Given the description of an element on the screen output the (x, y) to click on. 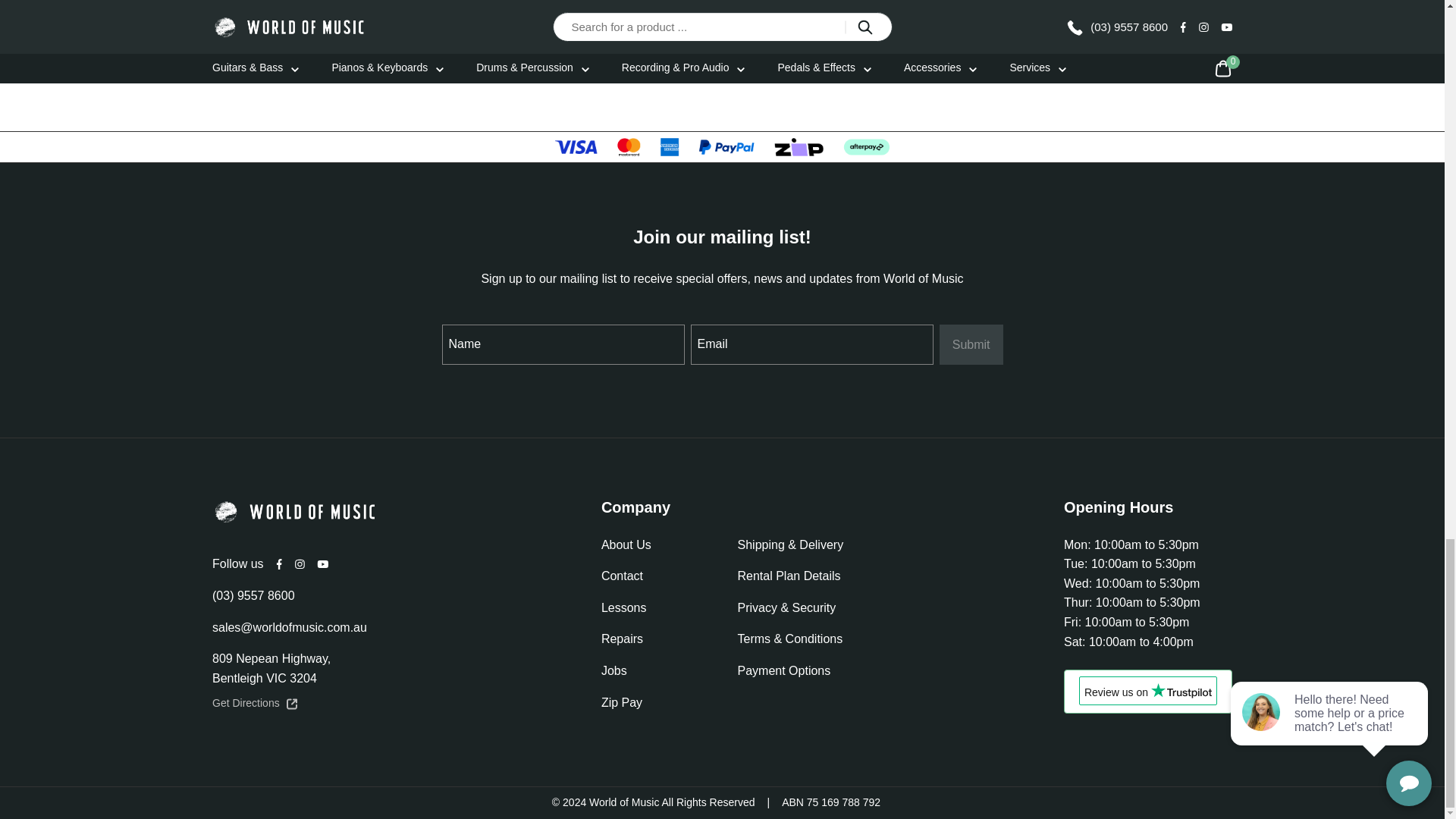
Customer reviews powered by Trustpilot (1147, 691)
payment-logos-updated (721, 147)
World of Music (295, 511)
